Given the description of an element on the screen output the (x, y) to click on. 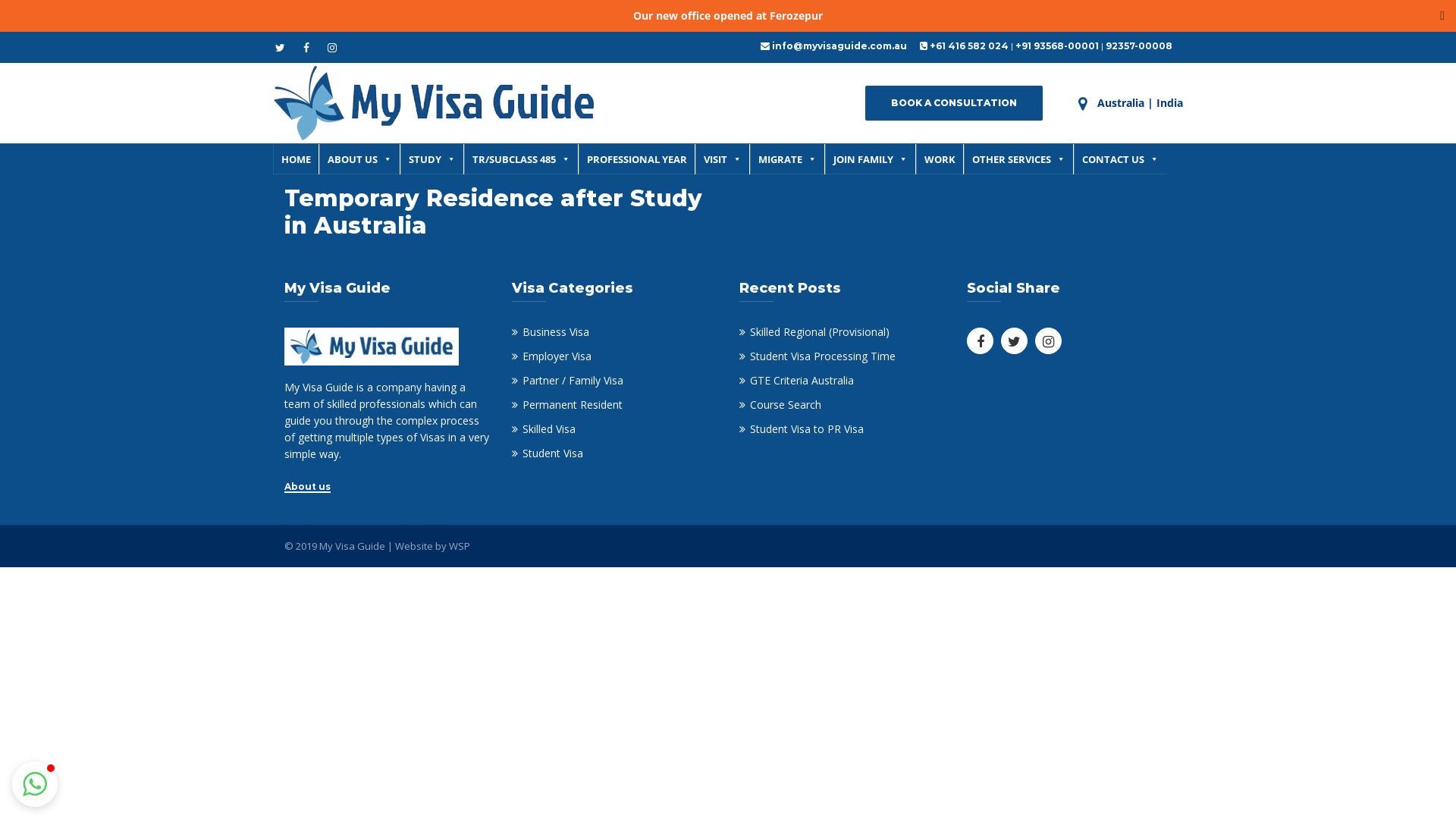
JOIN FAMILY Element type: text (870, 159)
Partner / Family Visa Element type: text (567, 380)
HOME Element type: text (295, 159)
Ferozepur Element type: text (795, 15)
About us Element type: text (307, 486)
Student Visa Element type: text (547, 452)
Student Visa to PR Visa Element type: text (801, 428)
VISIT Element type: text (722, 159)
CONTACT US Element type: text (1119, 159)
WSP Element type: text (459, 545)
TR/SUBCLASS 485 Element type: text (520, 159)
STUDY Element type: text (431, 159)
OTHER SERVICES Element type: text (1018, 159)
ABOUT US Element type: text (359, 159)
Business Visa Element type: text (550, 331)
BOOK A CONSULTATION Element type: text (953, 102)
Skilled Visa Element type: text (543, 428)
Student Visa Processing Time Element type: text (817, 355)
MIGRATE Element type: text (786, 159)
PROFESSIONAL YEAR Element type: text (636, 159)
Course Search Element type: text (780, 404)
Employer Visa Element type: text (551, 355)
Skilled Regional (Provisional) Element type: text (814, 331)
WORK Element type: text (939, 159)
Permanent Resident Element type: text (566, 404)
GTE Criteria Australia Element type: text (796, 380)
